Given the description of an element on the screen output the (x, y) to click on. 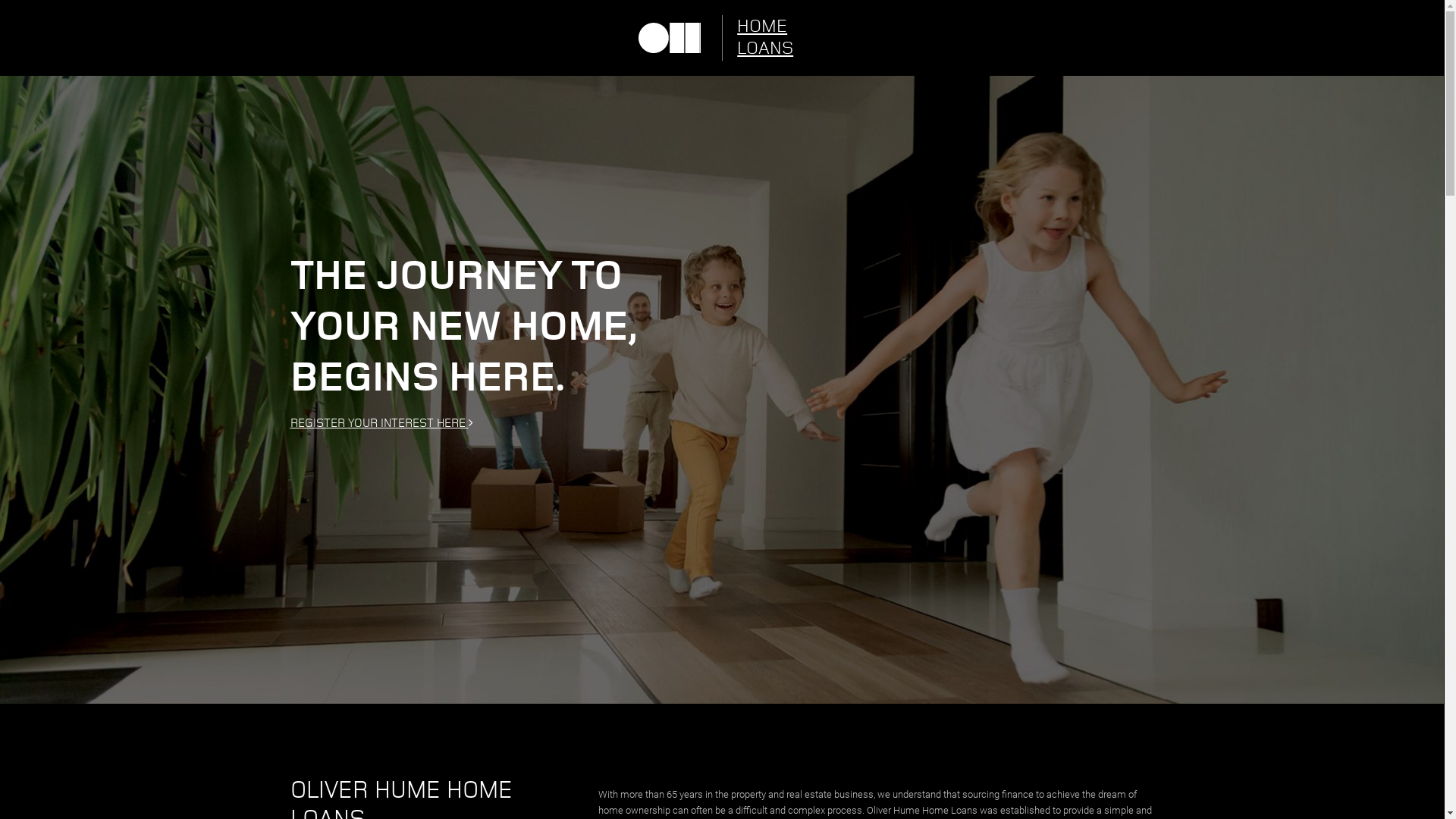
HOME LOANS Element type: text (774, 37)
REGISTER YOUR INTEREST HERE Element type: text (721, 423)
